Given the description of an element on the screen output the (x, y) to click on. 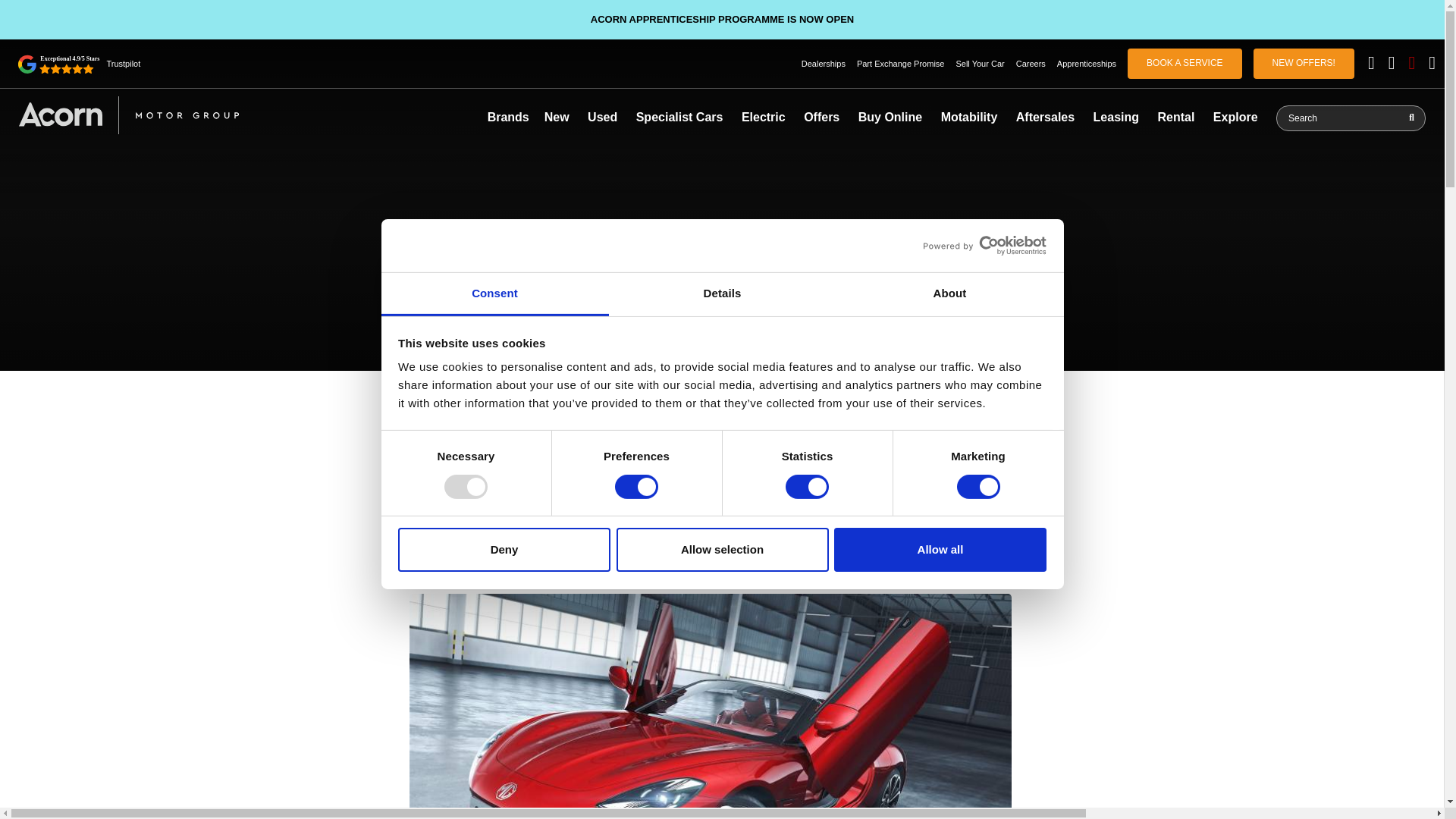
Details (721, 294)
Consent (494, 294)
About (948, 294)
Acorn Group news (128, 115)
